Given the description of an element on the screen output the (x, y) to click on. 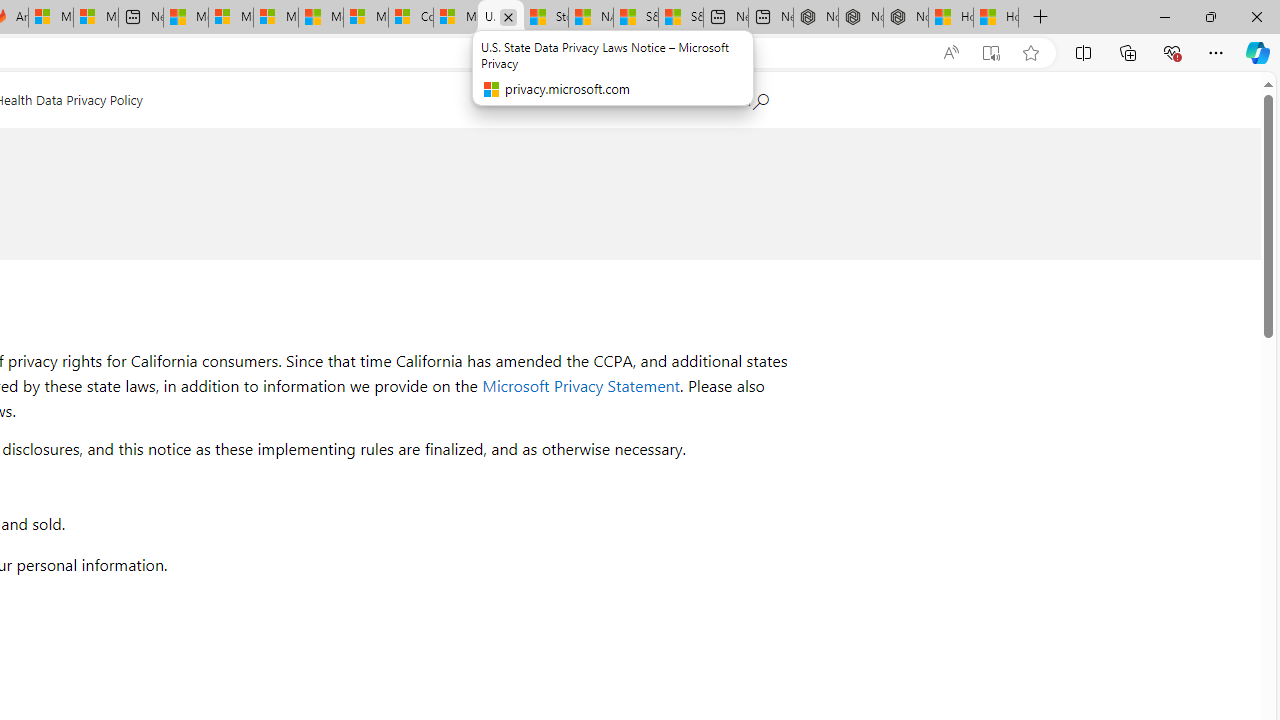
Enter Immersive Reader (F9) (991, 53)
Microsoft account | Home (275, 17)
Search Microsoft.com (740, 97)
